Given the description of an element on the screen output the (x, y) to click on. 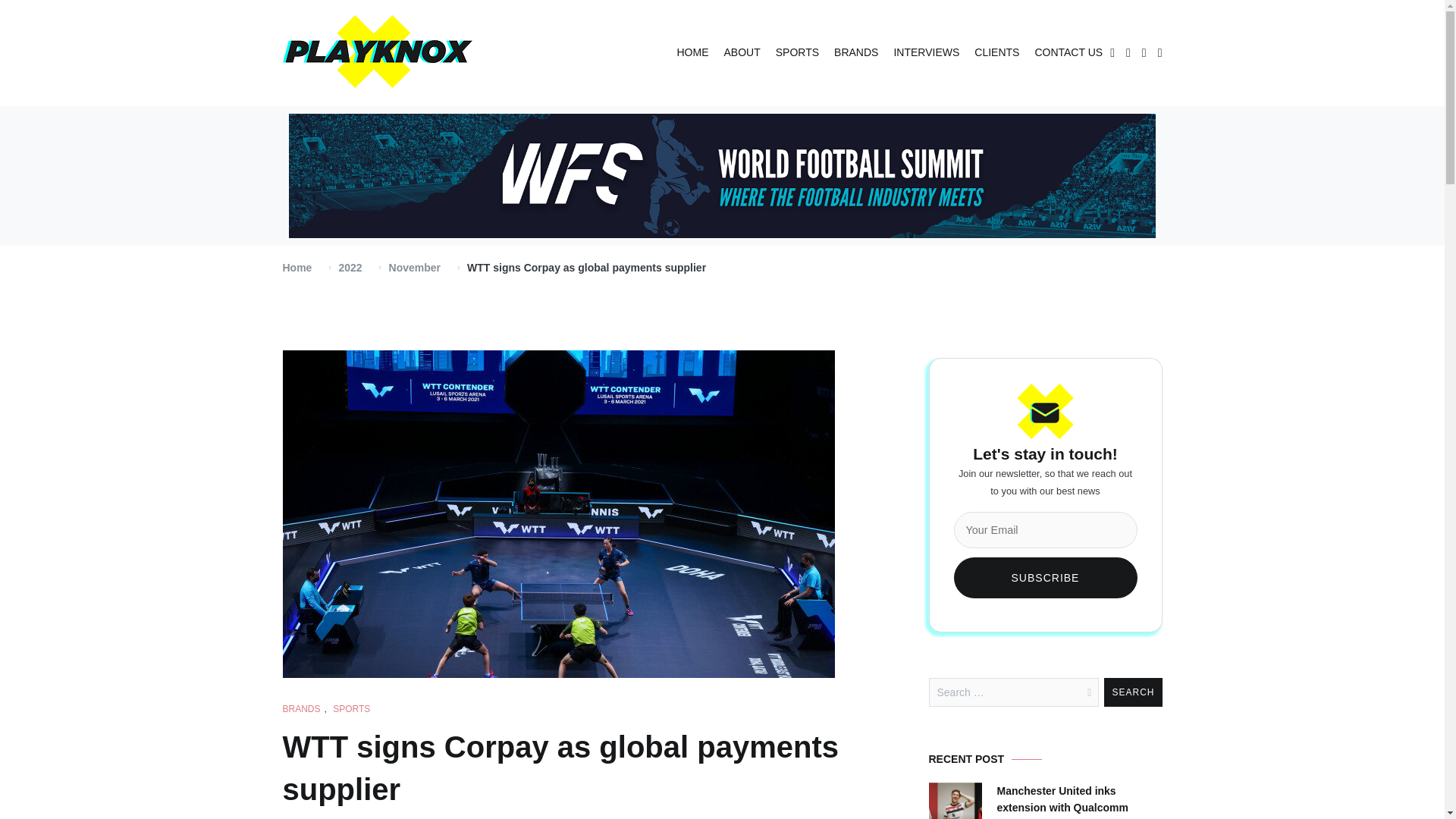
Search (1132, 692)
Subscribe (1045, 577)
Manchester United inks extension with Qualcomm Technologies (1078, 800)
CLIENTS (996, 53)
SPORTS (351, 708)
ABOUT (741, 53)
BRANDS (301, 708)
INTERVIEWS (926, 53)
BRANDS (855, 53)
November (414, 267)
